Given the description of an element on the screen output the (x, y) to click on. 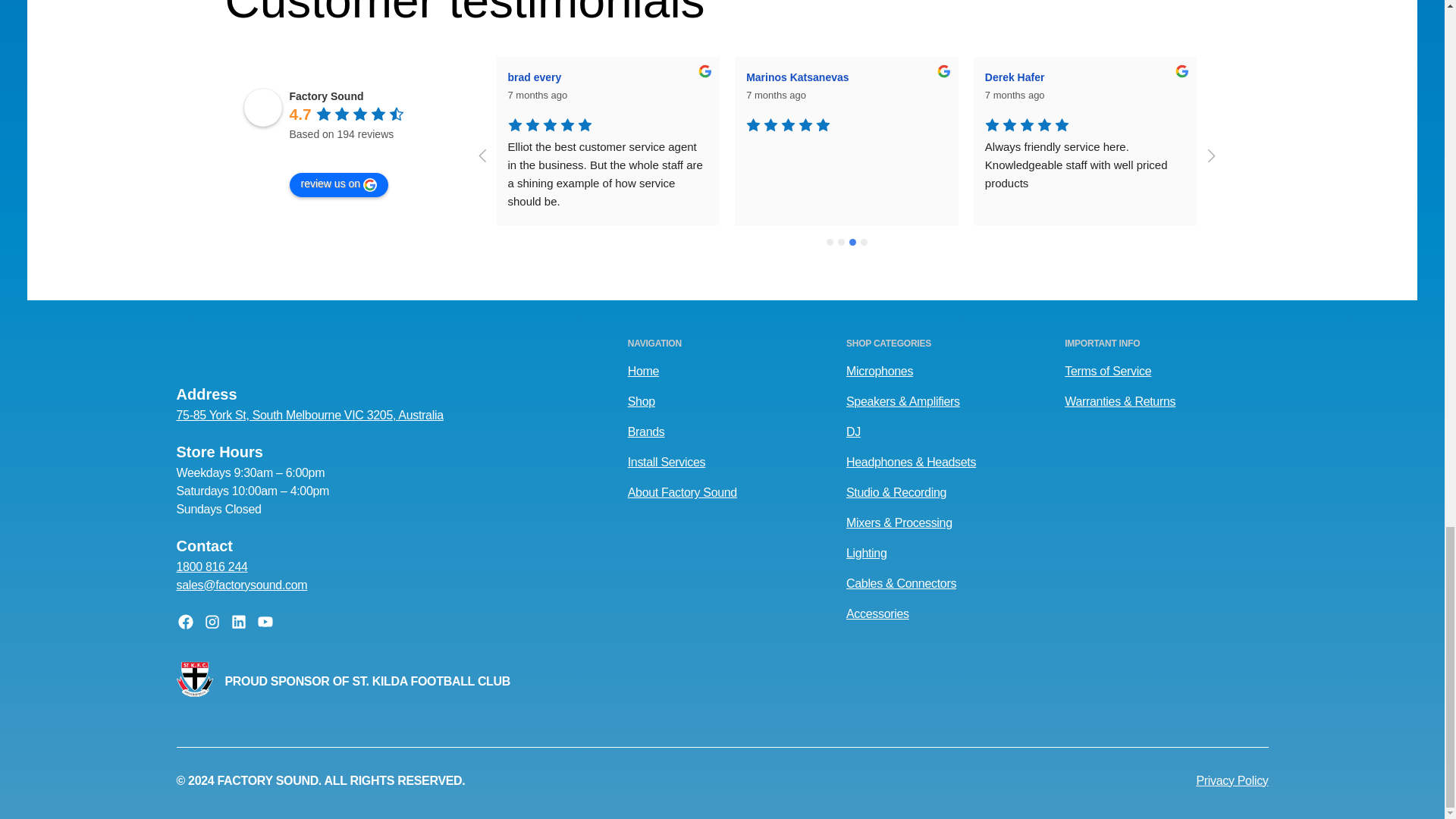
powered by Google (343, 152)
Factory Sound (263, 107)
